Given the description of an element on the screen output the (x, y) to click on. 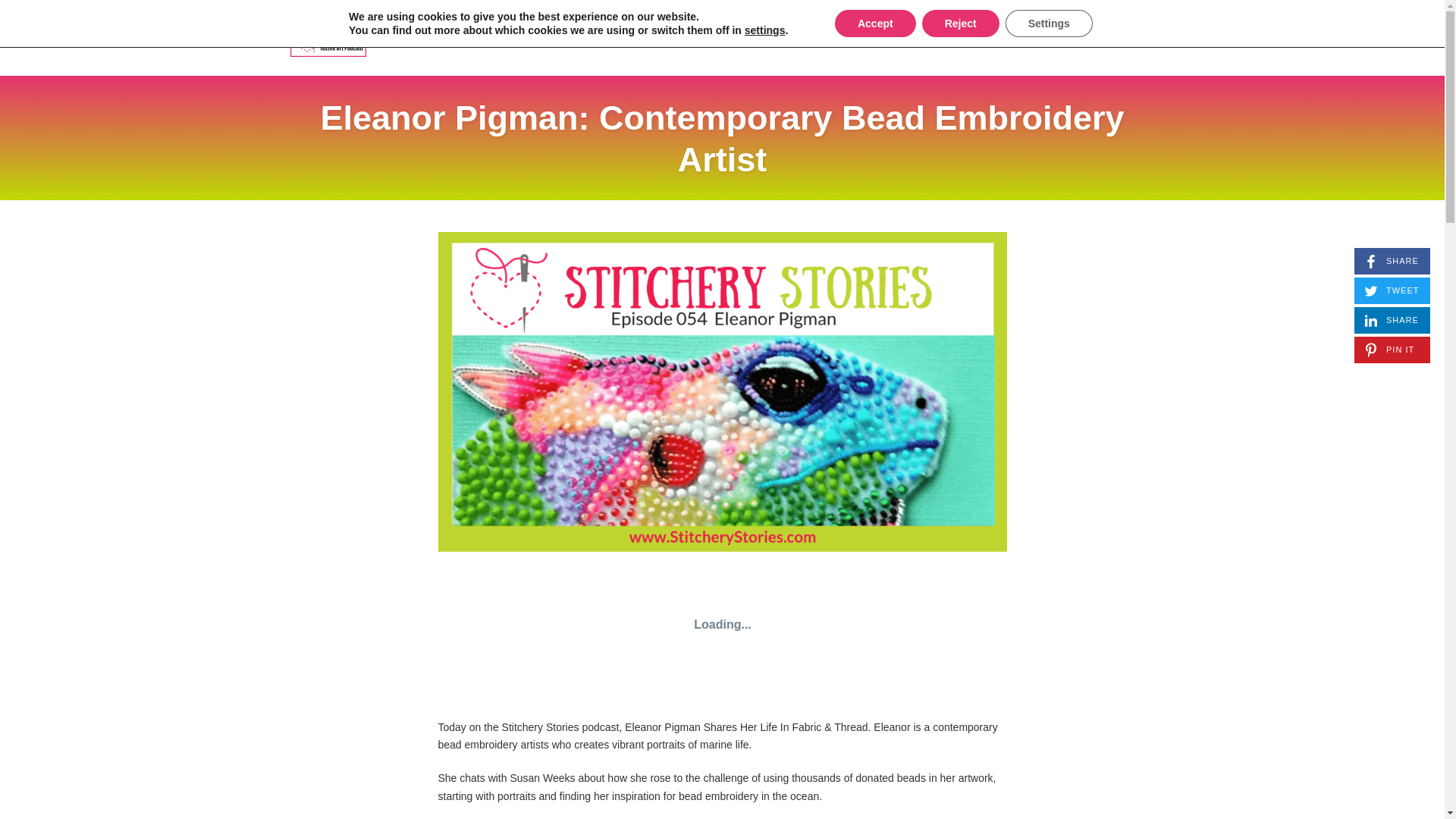
HOME (465, 37)
Eleanor Pigman: Contemporary Bead Embroidery Artist (1391, 261)
GUESTS (722, 138)
Embed Player (955, 37)
REVIEWS (722, 624)
BLOG (878, 37)
OPEN SEARCH FORM (1023, 37)
FAN CLUB (1391, 320)
ABOUT SUSAN (1144, 37)
INFO (1090, 37)
ONLINE COURSES (601, 37)
DONATE (520, 37)
